Given the description of an element on the screen output the (x, y) to click on. 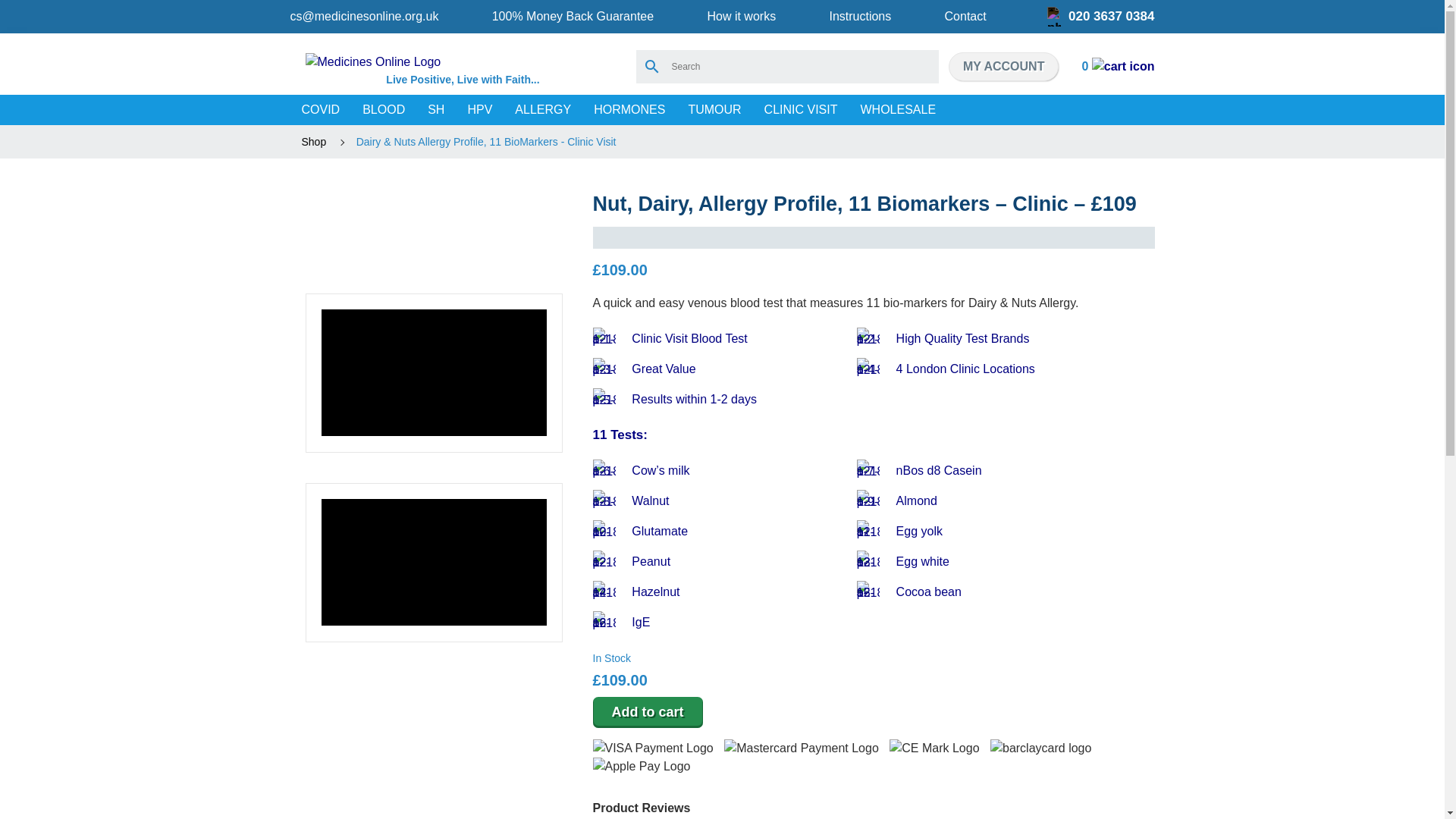
t-8-p-121821 (603, 500)
SH (435, 110)
MY ACCOUNT (1004, 66)
t-11-p-121821 (868, 531)
Contact (965, 16)
t-4-p-121821 (868, 368)
BLOOD (383, 110)
COVID (320, 110)
t-7-p-121821 (868, 470)
t-5-p-121821 (603, 399)
t-9-p-121821 (868, 500)
t-10-p-121821 (603, 531)
Trustpilot (873, 237)
t-13-p-121821 (868, 561)
TUMOUR (713, 110)
